Given the description of an element on the screen output the (x, y) to click on. 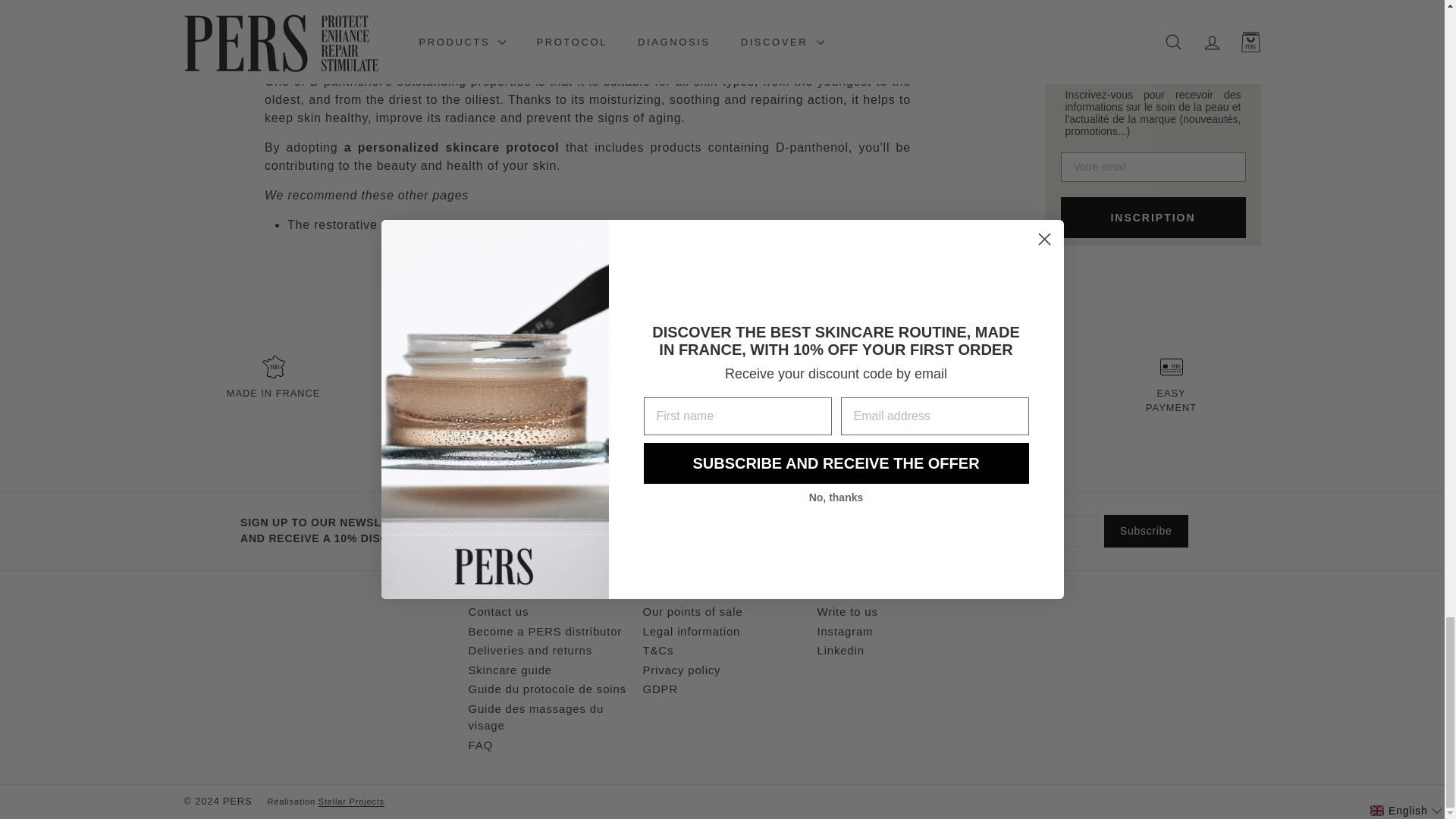
stellar, agence shopify (358, 801)
